Given the description of an element on the screen output the (x, y) to click on. 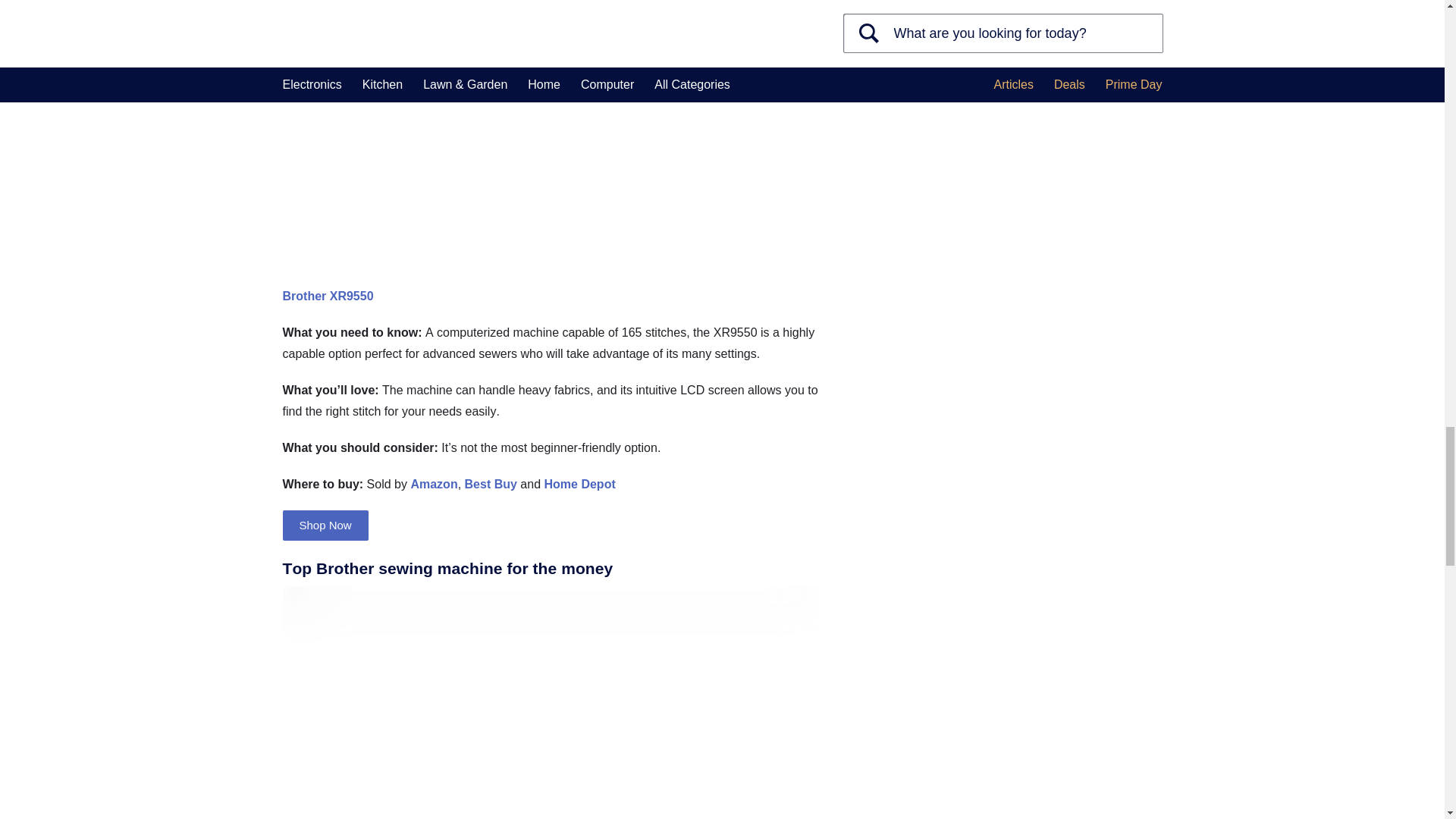
Amazon (433, 483)
Best Buy (490, 483)
Shop Now (325, 525)
Home Depot (579, 483)
Brother XR9550 (327, 295)
